Given the description of an element on the screen output the (x, y) to click on. 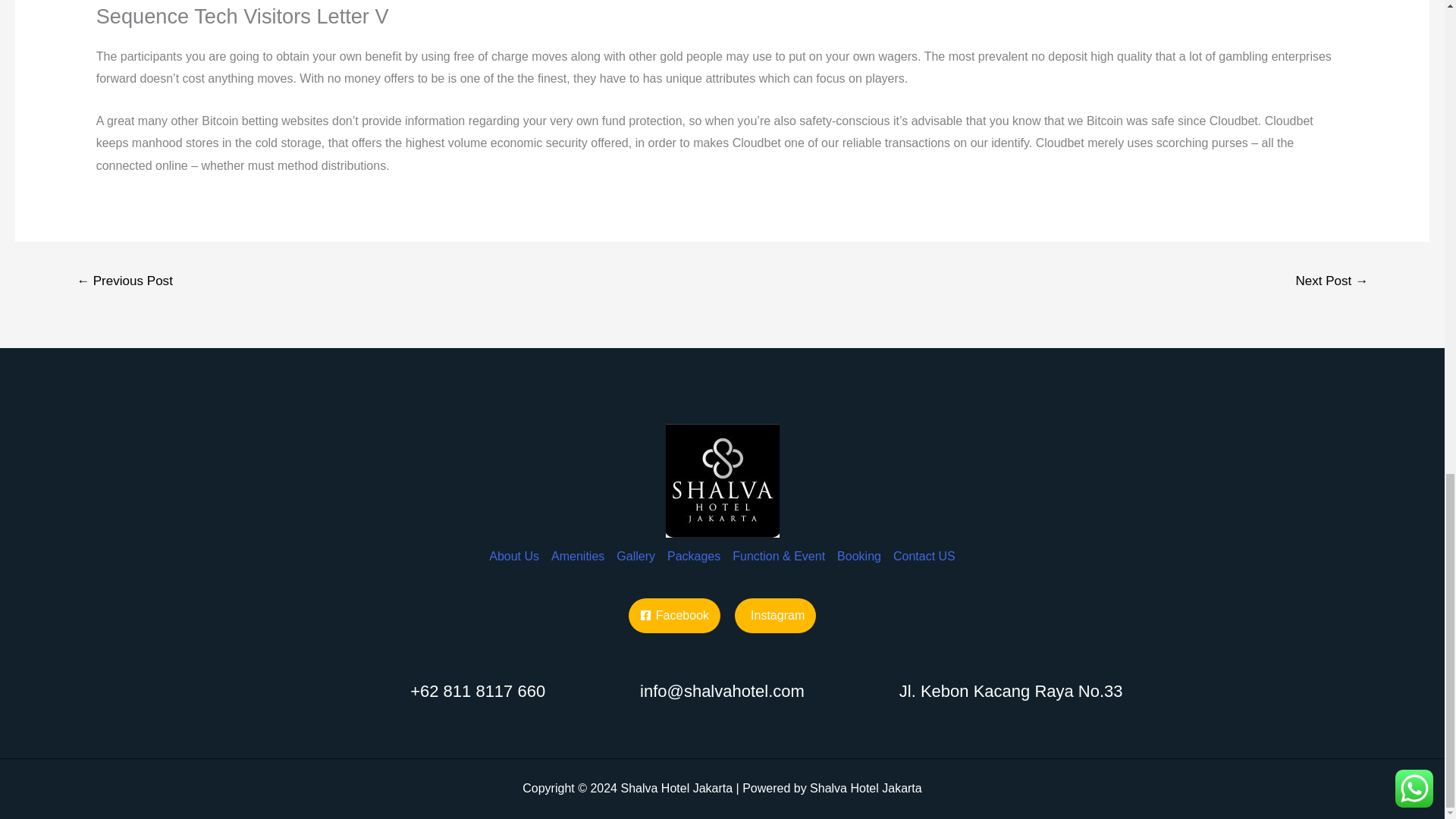
Gallery (635, 544)
Amenities (577, 544)
Contact US (920, 544)
Facebook (674, 615)
Instagram (775, 615)
Booking (858, 544)
Packages (693, 544)
About Us (516, 544)
